Given the description of an element on the screen output the (x, y) to click on. 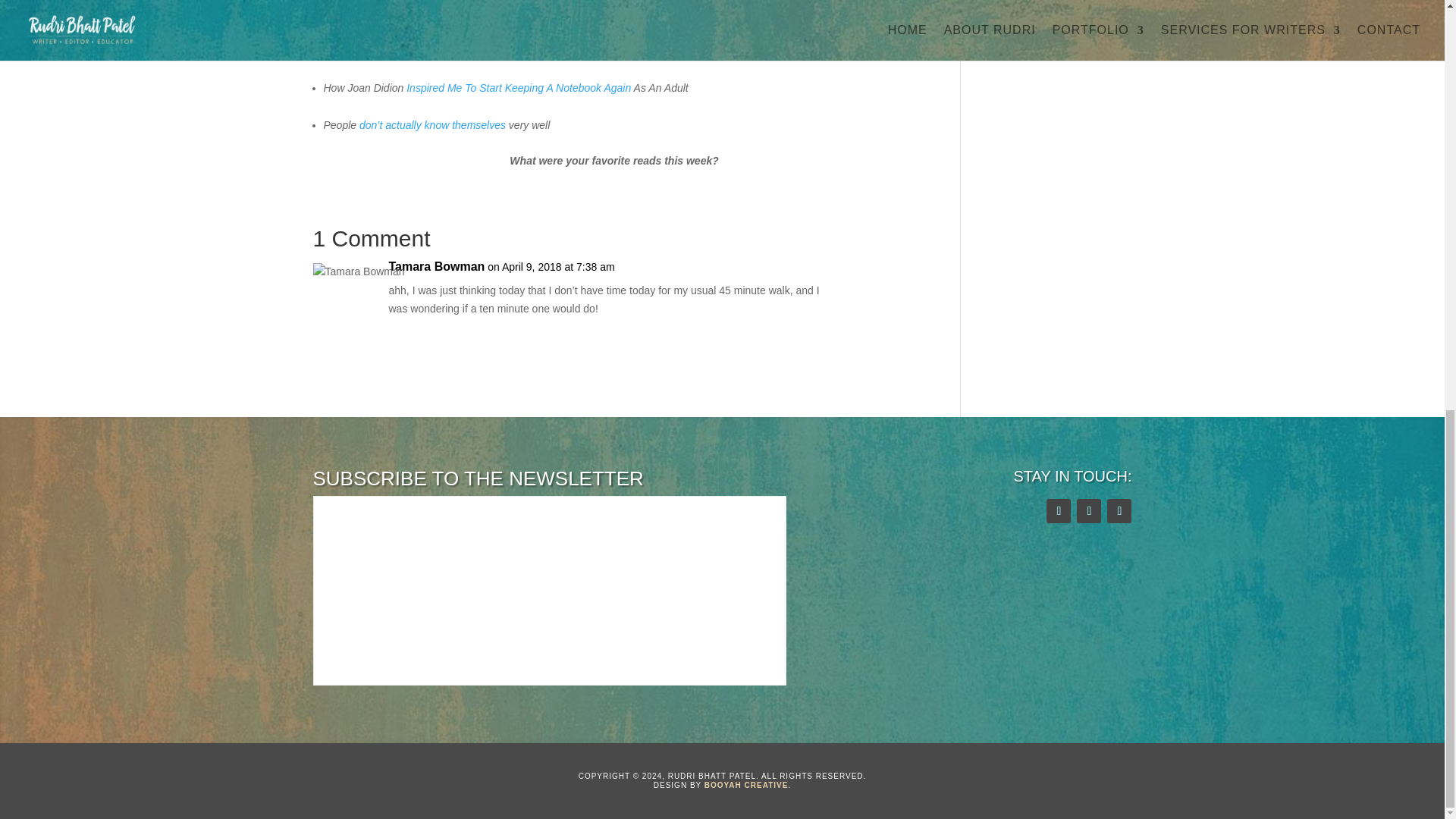
Follow on LinkedIn (1118, 510)
Tamara Bowman (436, 266)
36 Questions (354, 13)
many hours does it take (403, 50)
Follow on Facebook (1088, 510)
Inspired Me To Start Keeping A Notebook Again (518, 87)
BOOYAH CREATIVE (746, 785)
Follow on X (1058, 510)
